Given the description of an element on the screen output the (x, y) to click on. 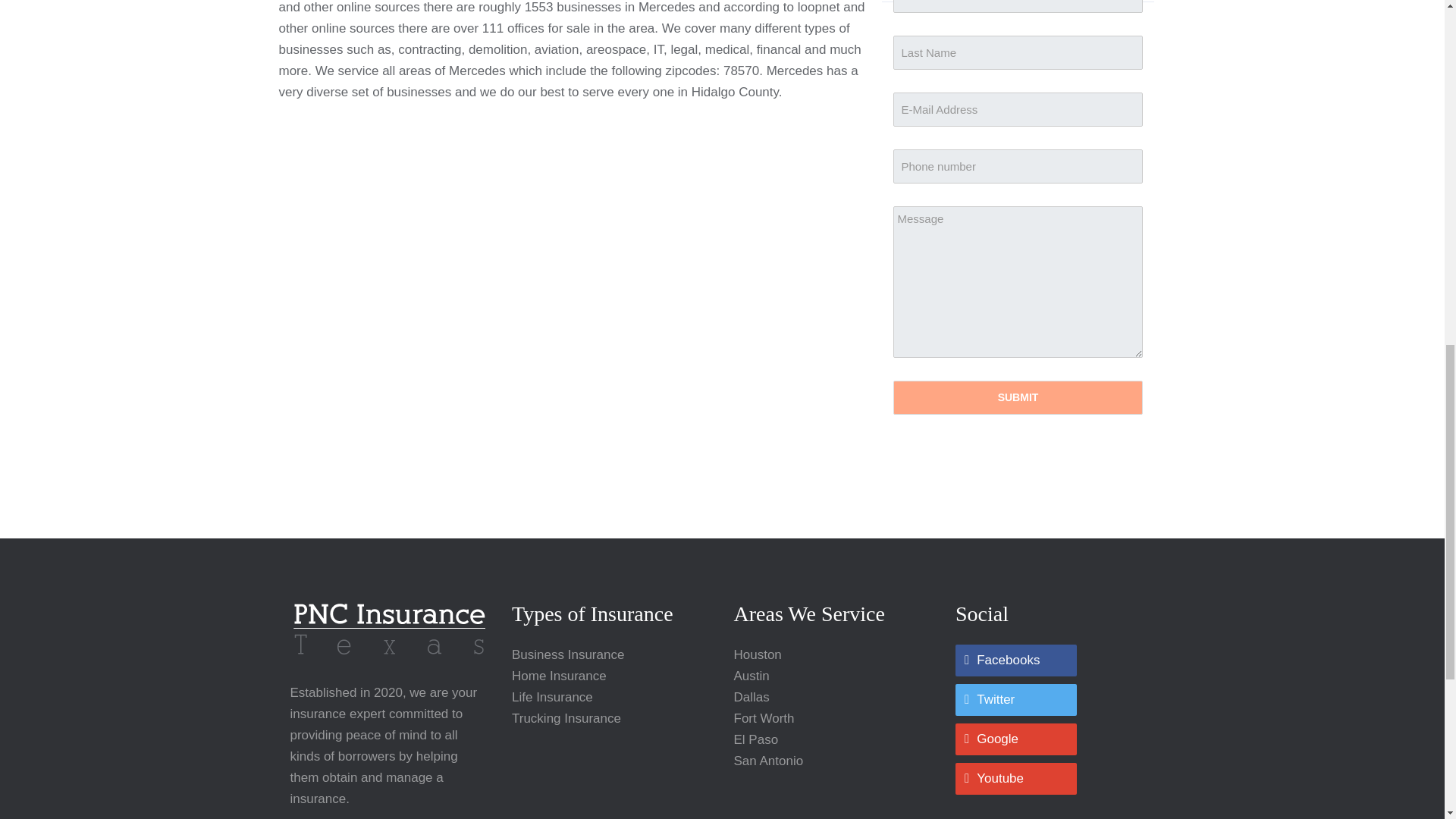
Submit (1017, 397)
